Given the description of an element on the screen output the (x, y) to click on. 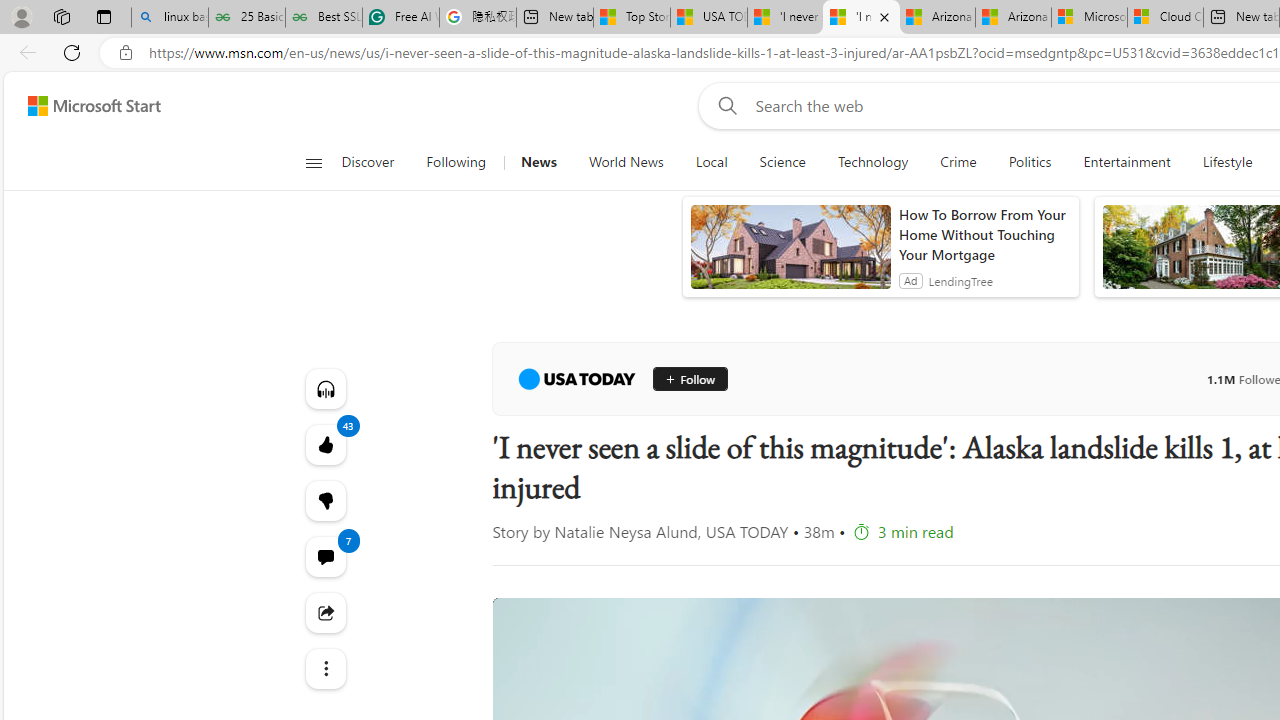
linux basic - Search (169, 17)
Top Stories - MSN (631, 17)
USA TODAY - MSN (708, 17)
